Given the description of an element on the screen output the (x, y) to click on. 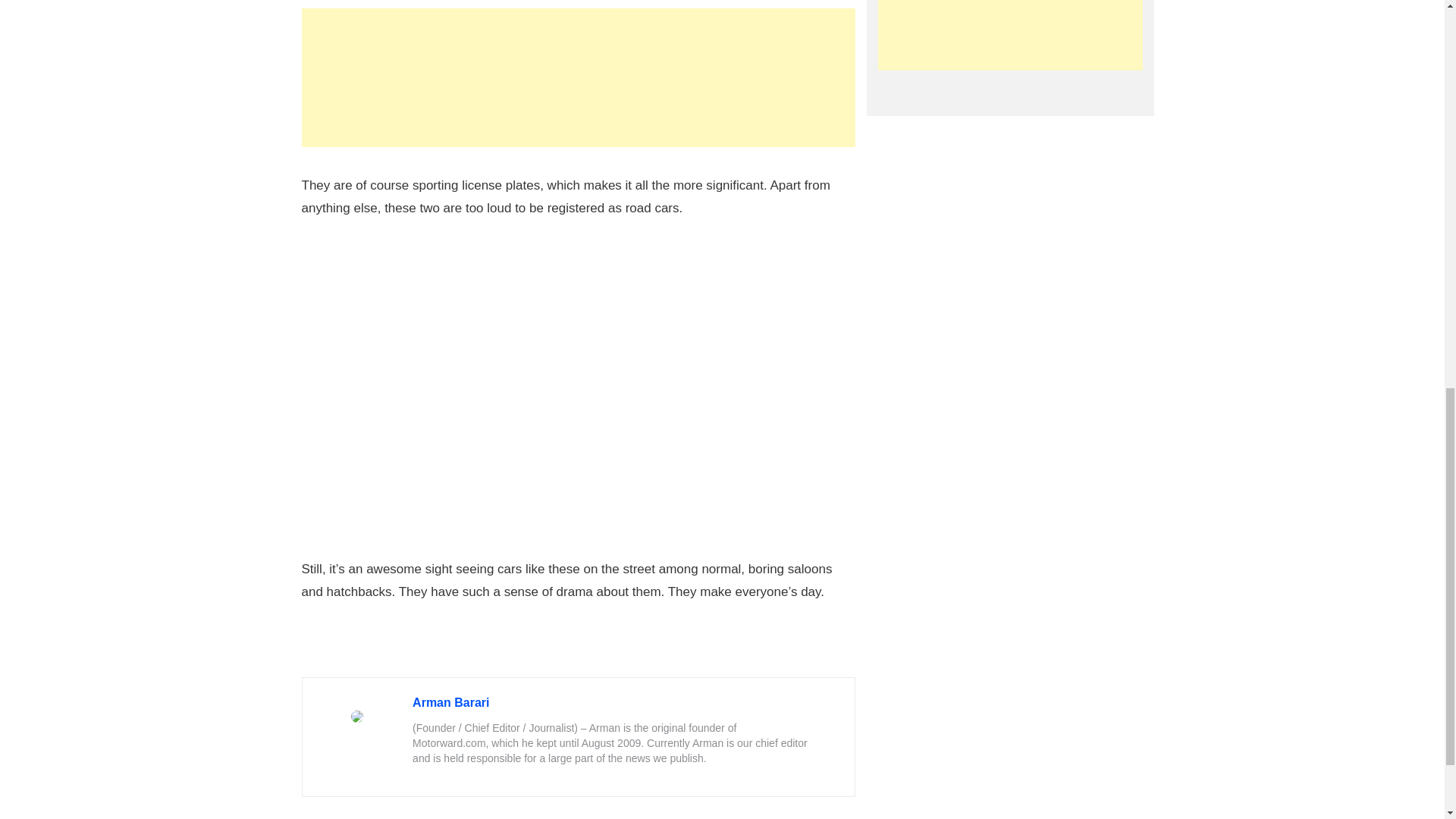
Advertisement (578, 77)
Advertisement (1009, 35)
Posts by Arman Barari (450, 702)
